Given the description of an element on the screen output the (x, y) to click on. 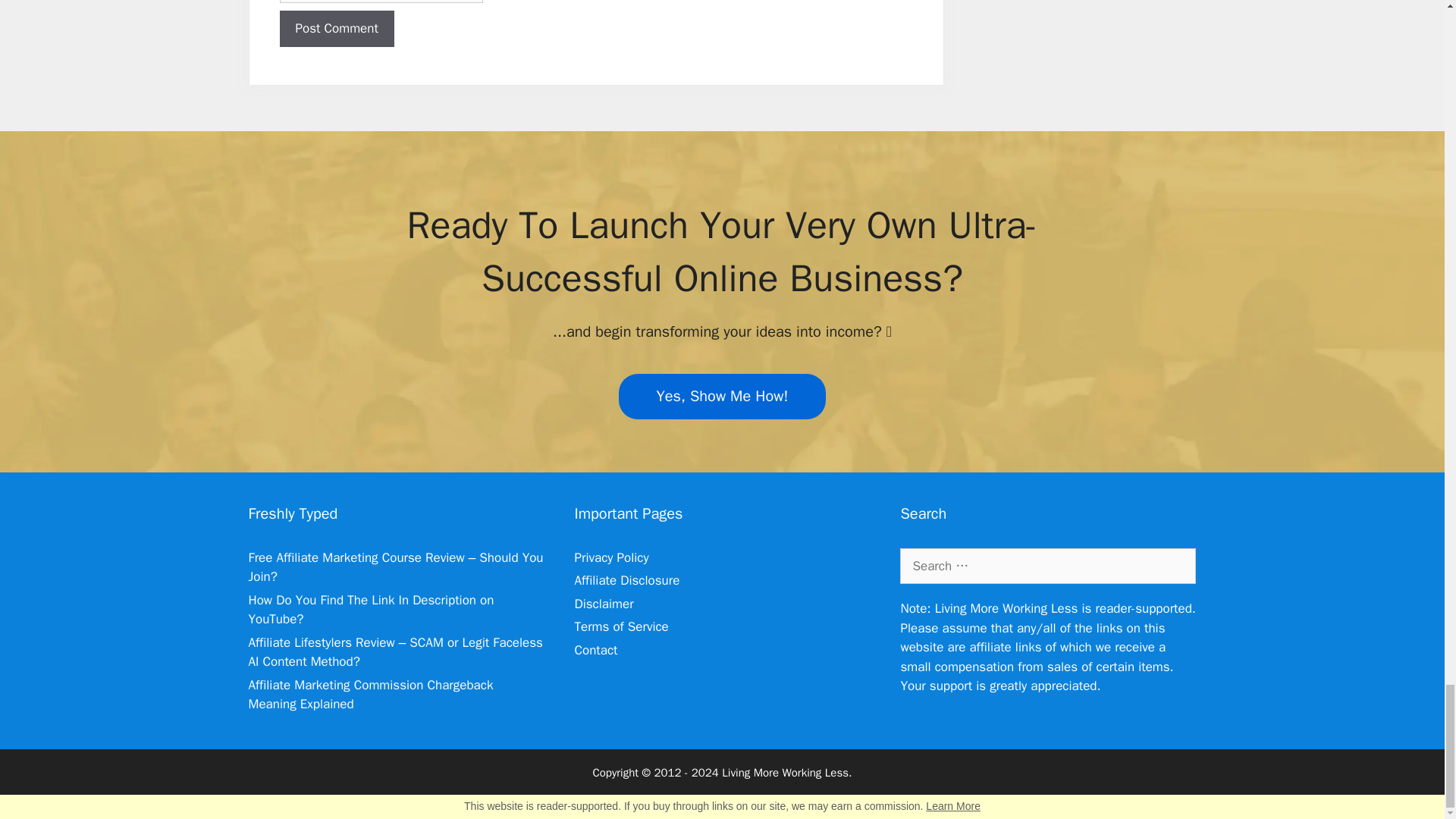
Search for: (1047, 565)
Yes, Show Me How! (722, 396)
Post Comment (336, 28)
Post Comment (336, 28)
How Do You Find The Link In Description on YouTube? (371, 610)
